Given the description of an element on the screen output the (x, y) to click on. 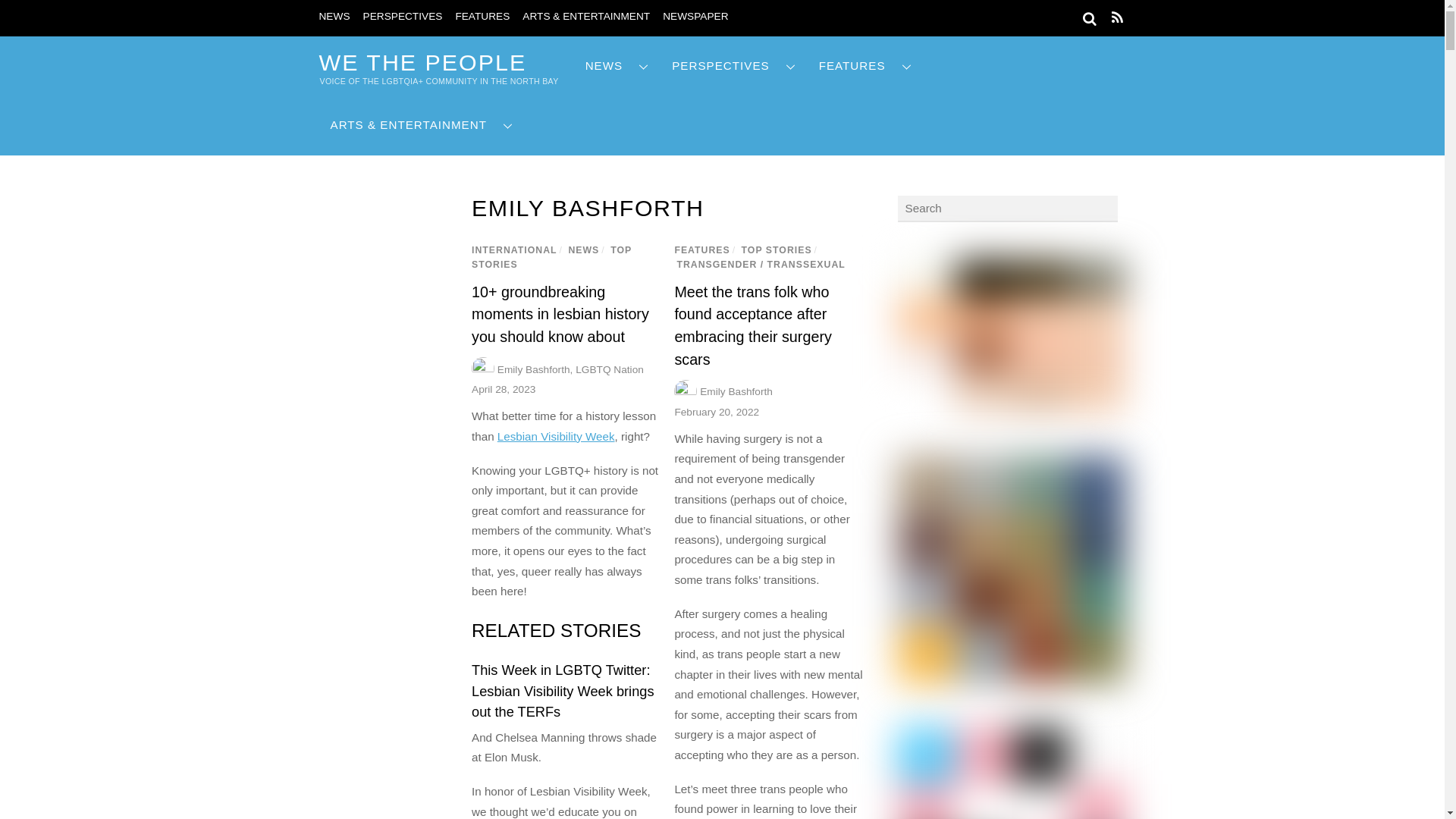
NEWSPAPER (695, 16)
We The People (421, 62)
FEATURES (481, 16)
PERSPECTIVES (402, 16)
WE THE PEOPLE (421, 62)
NEWS (333, 16)
NEWS (617, 66)
